Given the description of an element on the screen output the (x, y) to click on. 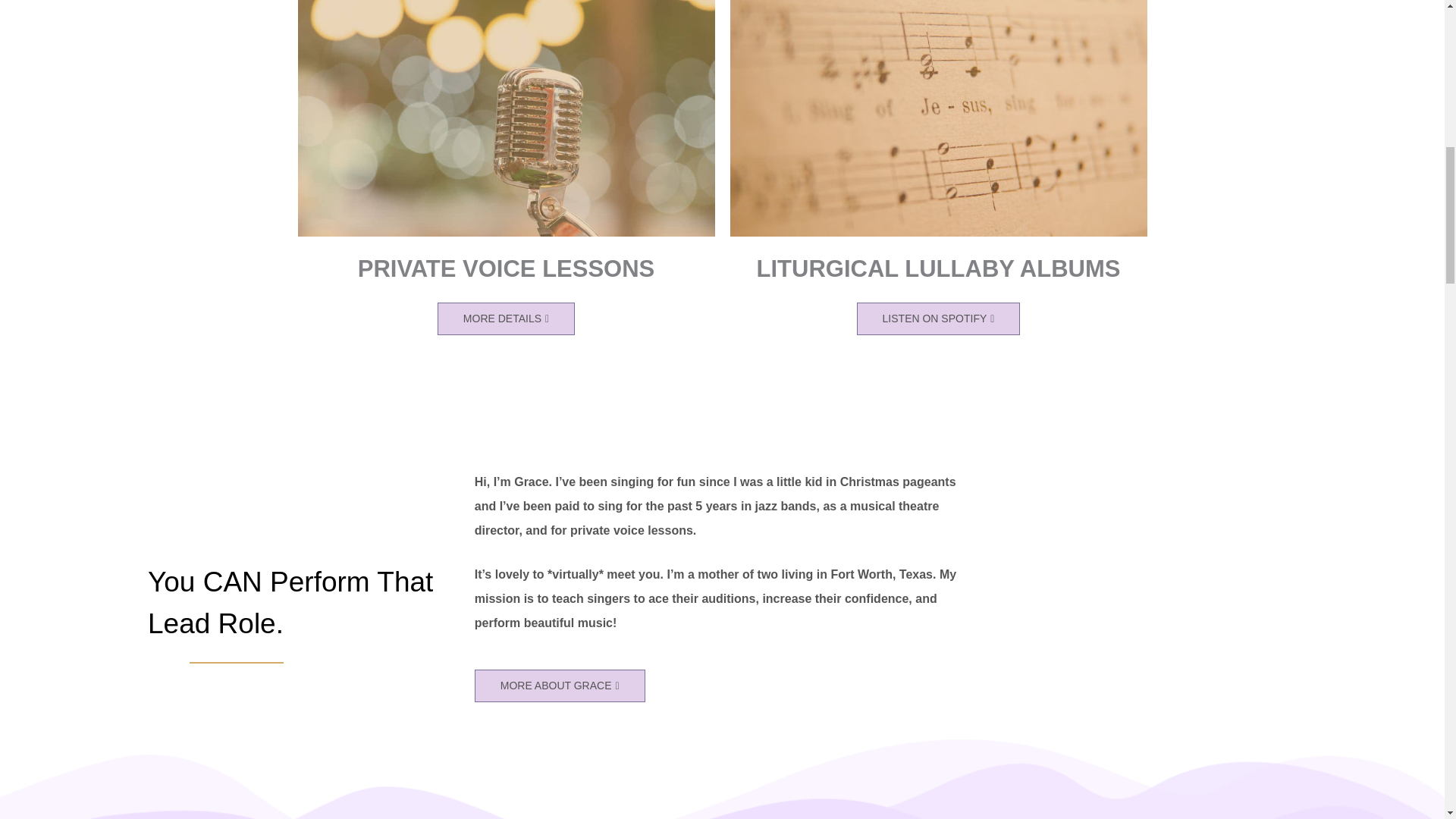
LISTEN ON SPOTIFY (938, 318)
MORE ABOUT GRACE (559, 685)
MORE DETAILS (506, 318)
PRIVATE VOICE LESSONS (506, 268)
LITURGICAL LULLABY ALBUMS (939, 268)
